Given the description of an element on the screen output the (x, y) to click on. 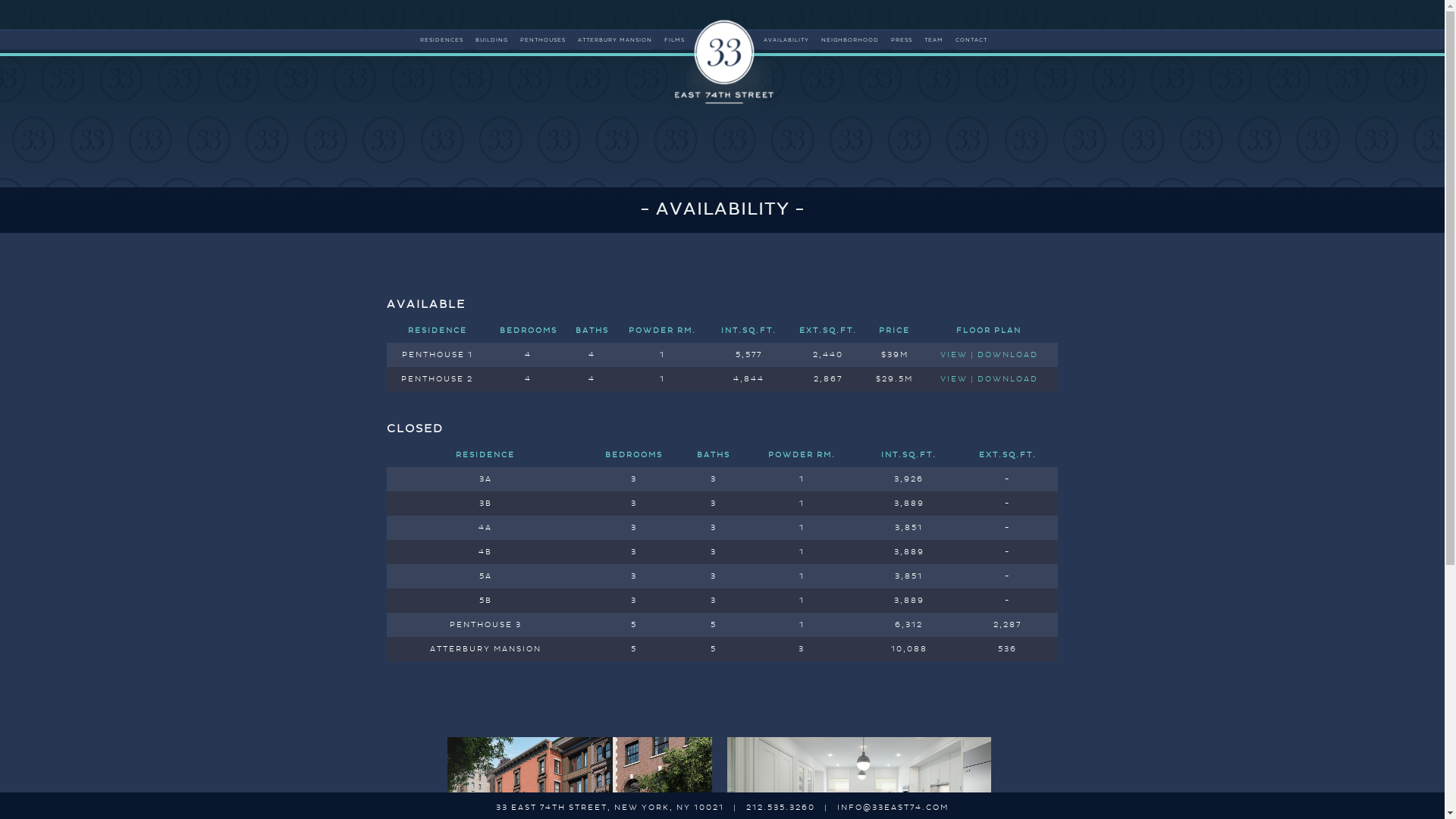
VIEW Element type: text (953, 378)
INFO@33EAST74.COM Element type: text (892, 807)
PRESS Element type: text (901, 40)
212.535.3260 Element type: text (780, 807)
BUILDING Element type: text (491, 40)
RESIDENCES Element type: text (441, 40)
TEAM Element type: text (933, 40)
NEIGHBORHOOD Element type: text (849, 40)
AVAILABILITY Element type: text (786, 40)
CONTACT Element type: text (971, 40)
DOWNLOAD Element type: text (1007, 354)
FILMS Element type: text (674, 40)
ATTERBURY MANSION Element type: text (614, 40)
DOWNLOAD Element type: text (1007, 378)
PENTHOUSES Element type: text (542, 40)
VIEW Element type: text (953, 354)
